Given the description of an element on the screen output the (x, y) to click on. 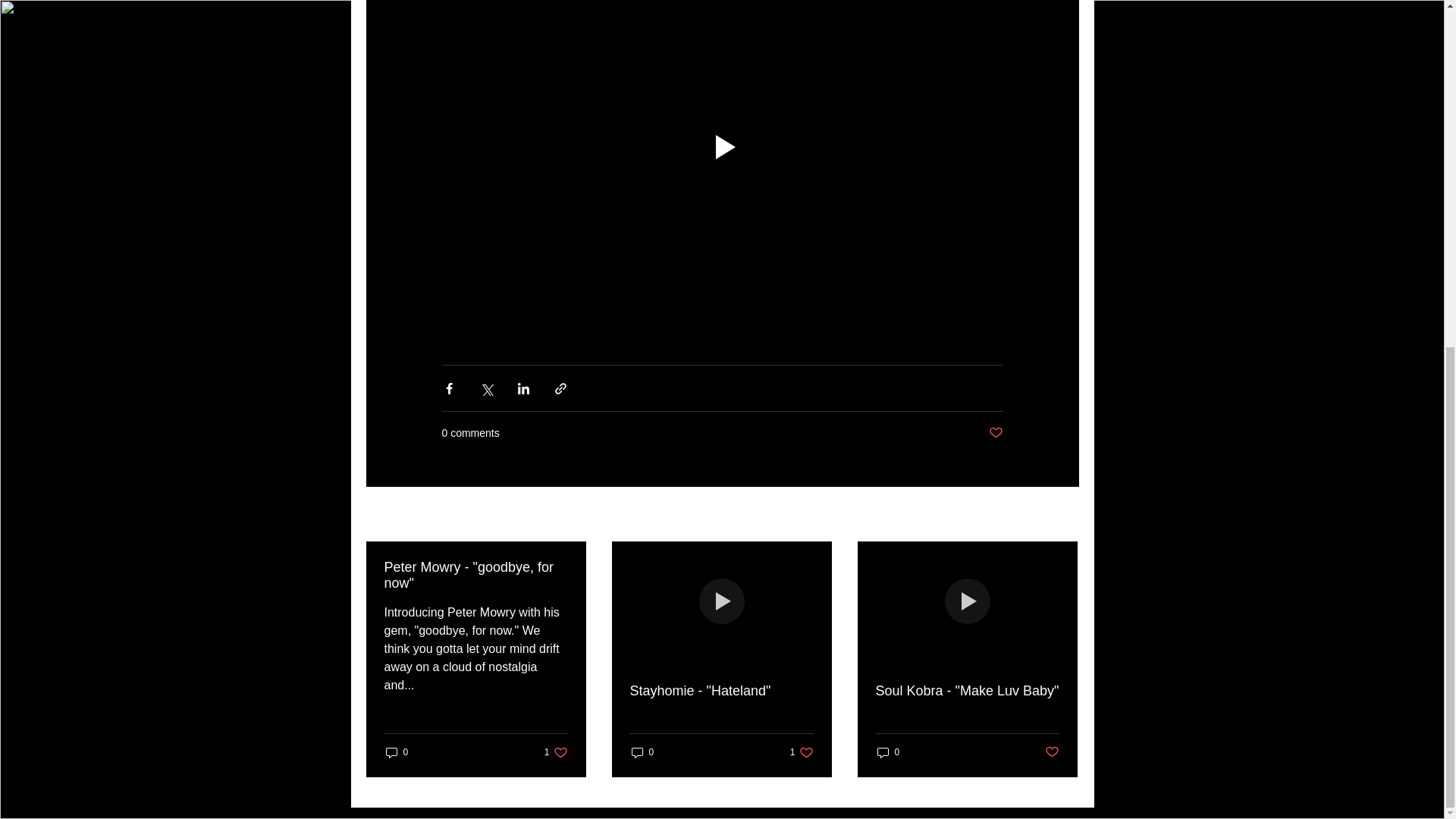
Peter Mowry - "goodbye, for now" (475, 575)
Stayhomie - "Hateland" (720, 691)
0 (888, 752)
0 (801, 752)
0 (641, 752)
Soul Kobra - "Make Luv Baby" (396, 752)
See All (966, 691)
Post not marked as liked (1061, 515)
